Given the description of an element on the screen output the (x, y) to click on. 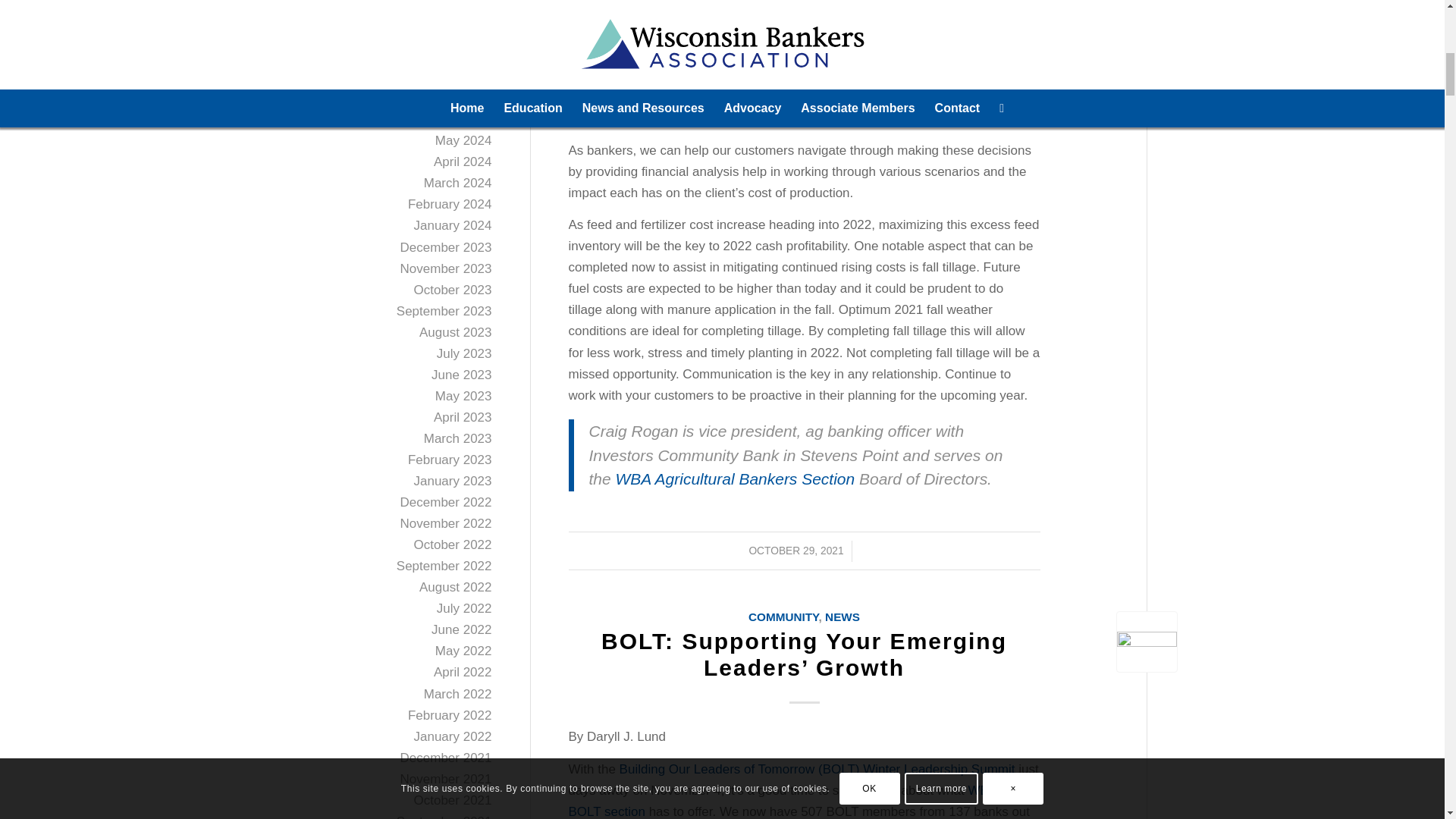
COMMUNITY (783, 616)
WBA Agricultural Bankers Section (735, 478)
NEWS (842, 616)
